Given the description of an element on the screen output the (x, y) to click on. 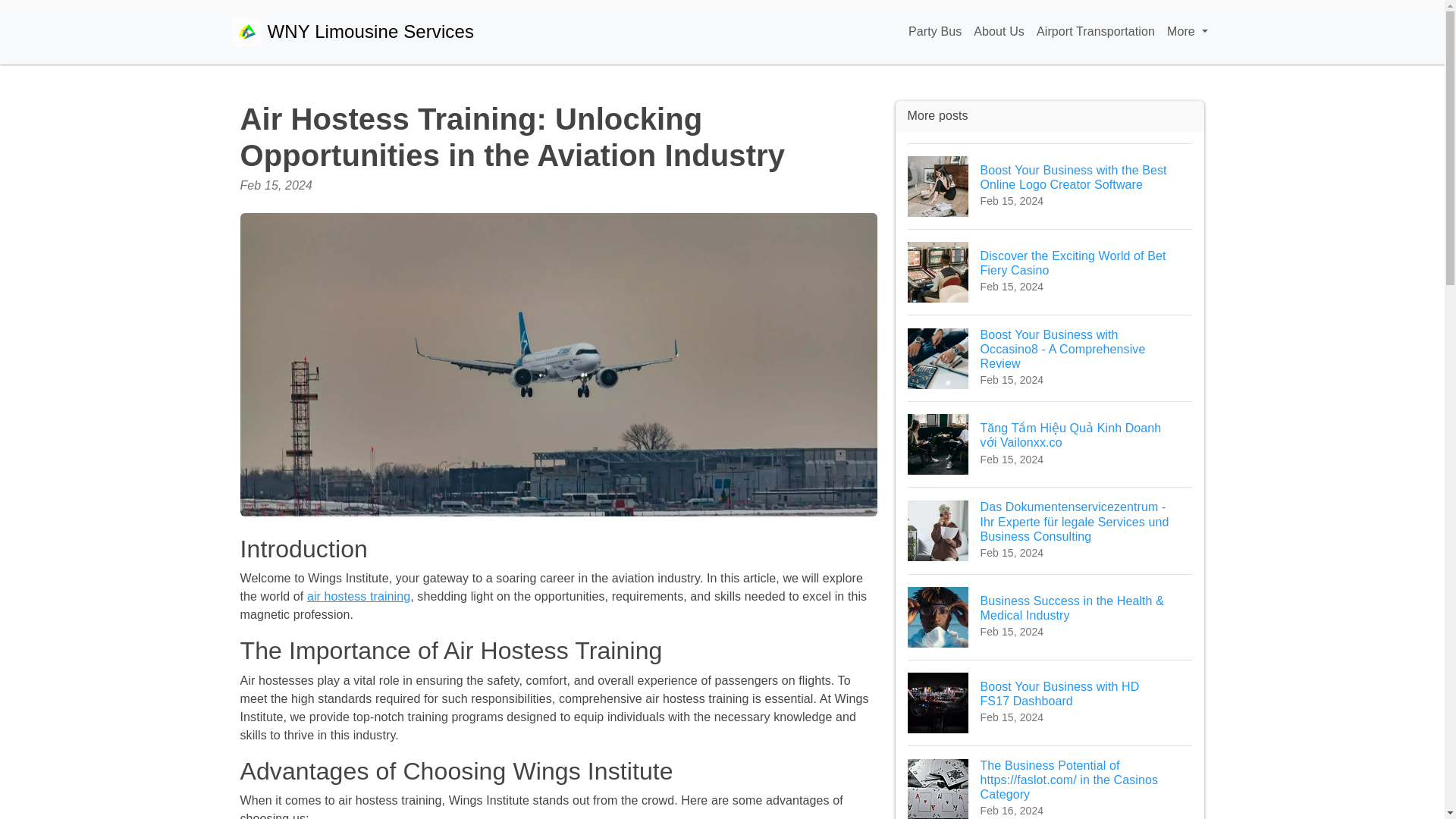
air hostess training (358, 595)
More (1186, 32)
WNY Limousine Services (352, 31)
Airport Transportation (1095, 32)
About Us (1049, 271)
Party Bus (999, 32)
